Given the description of an element on the screen output the (x, y) to click on. 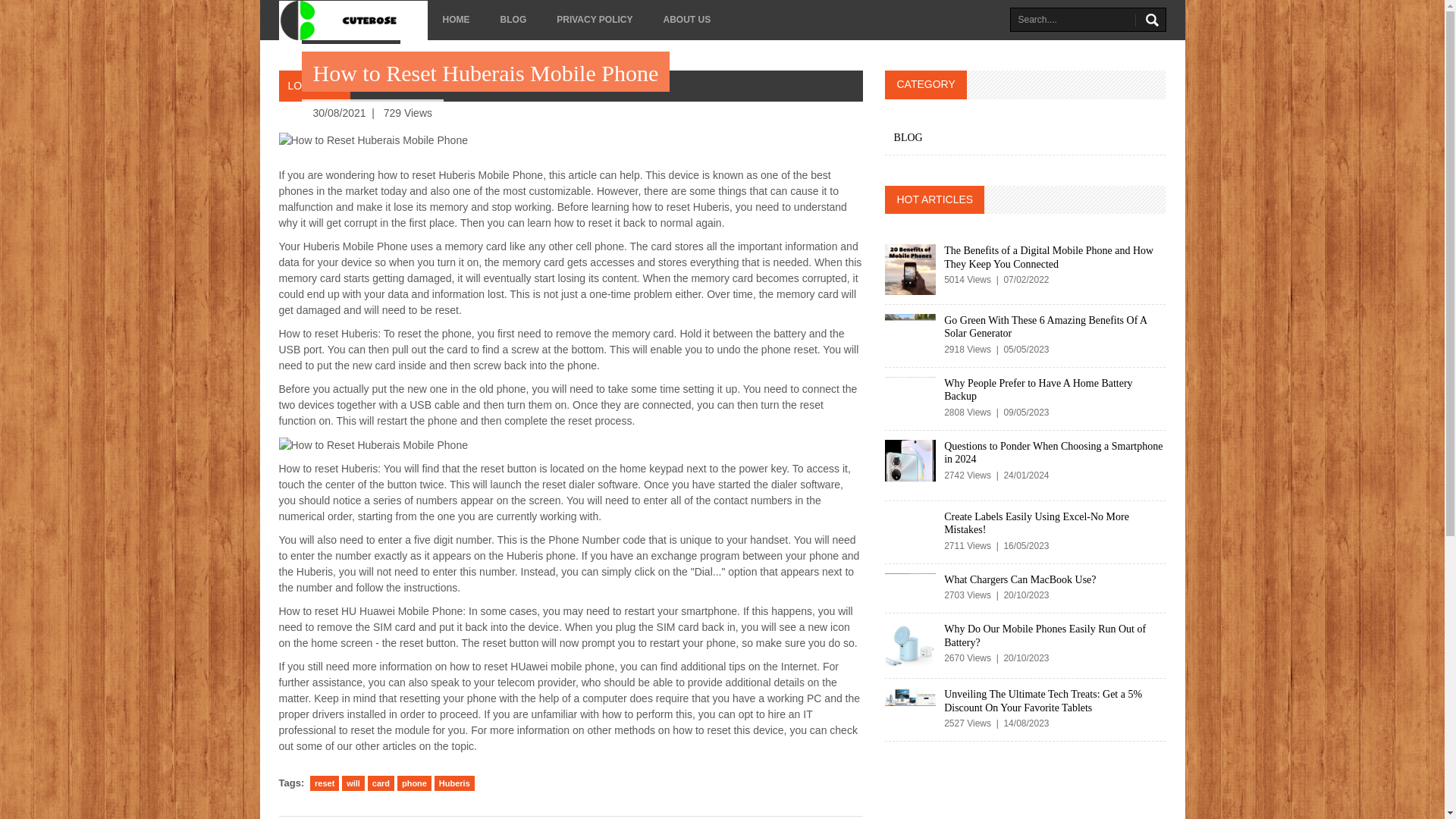
PRIVACY POLICY (594, 19)
Why Do Our Mobile Phones Easily Run Out of Battery? (1044, 635)
Article (414, 85)
How to Reset Huberais Mobile Phone (373, 445)
Go Green With These 6 Amazing Benefits Of A Solar Generator (1045, 326)
ABOUT US (686, 19)
Go Green With These 6 Amazing Benefits Of A Solar Generator (910, 324)
BLOG (512, 19)
